Given the description of an element on the screen output the (x, y) to click on. 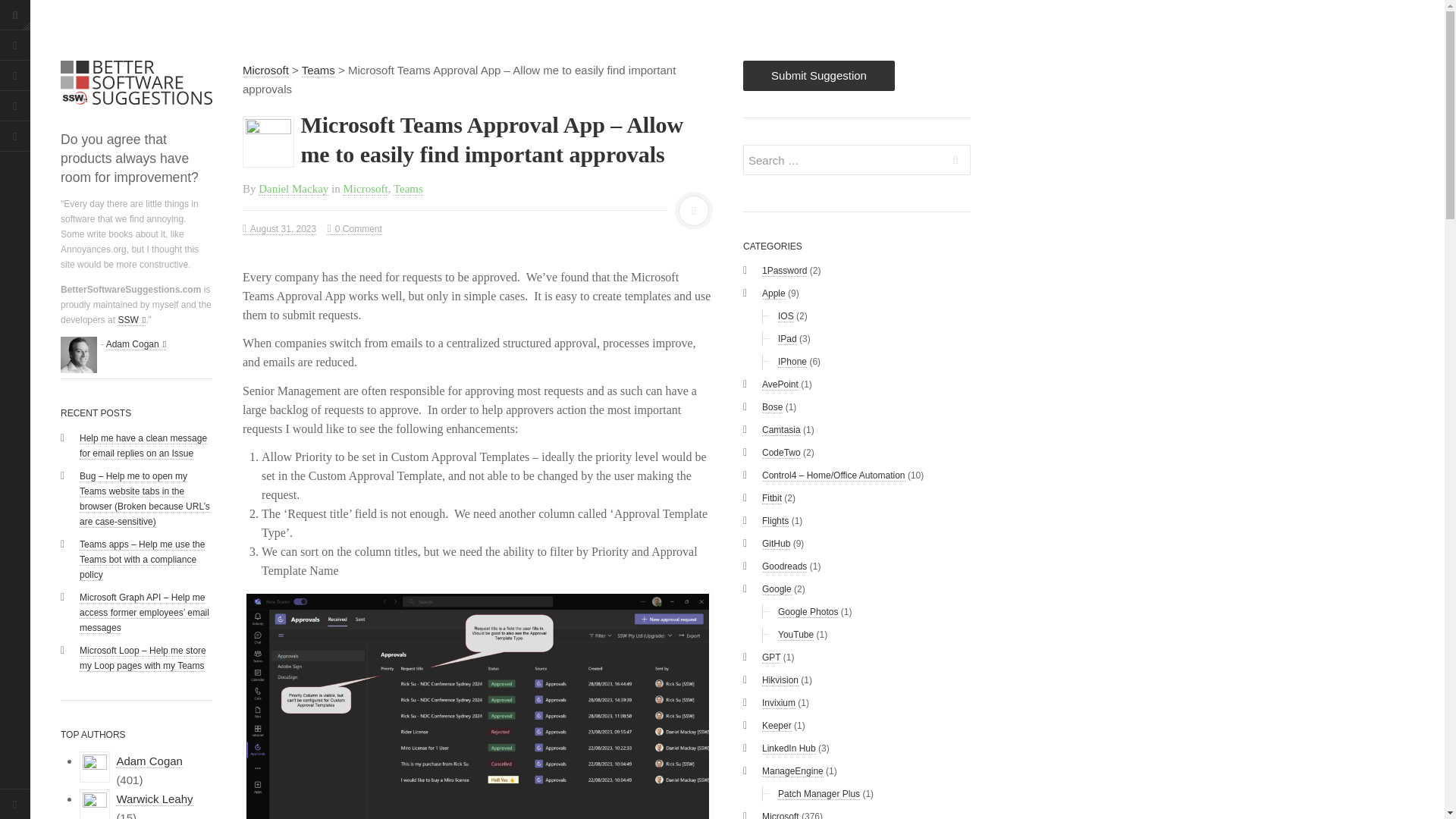
Teams (317, 69)
Warwick Leahy (154, 798)
Adam Cogan (149, 761)
Adam Cogan (135, 344)
Teams (408, 187)
Microsoft (364, 187)
SSW Better Software Suggestions (136, 82)
Daniel Mackay (294, 187)
SSW (131, 319)
Microsoft (265, 69)
Search (955, 159)
Search (955, 159)
Help me have a clean message for email replies on an Issue (143, 446)
Posts by Warwick Leahy (154, 798)
Posts by Adam Cogan (149, 761)
